Given the description of an element on the screen output the (x, y) to click on. 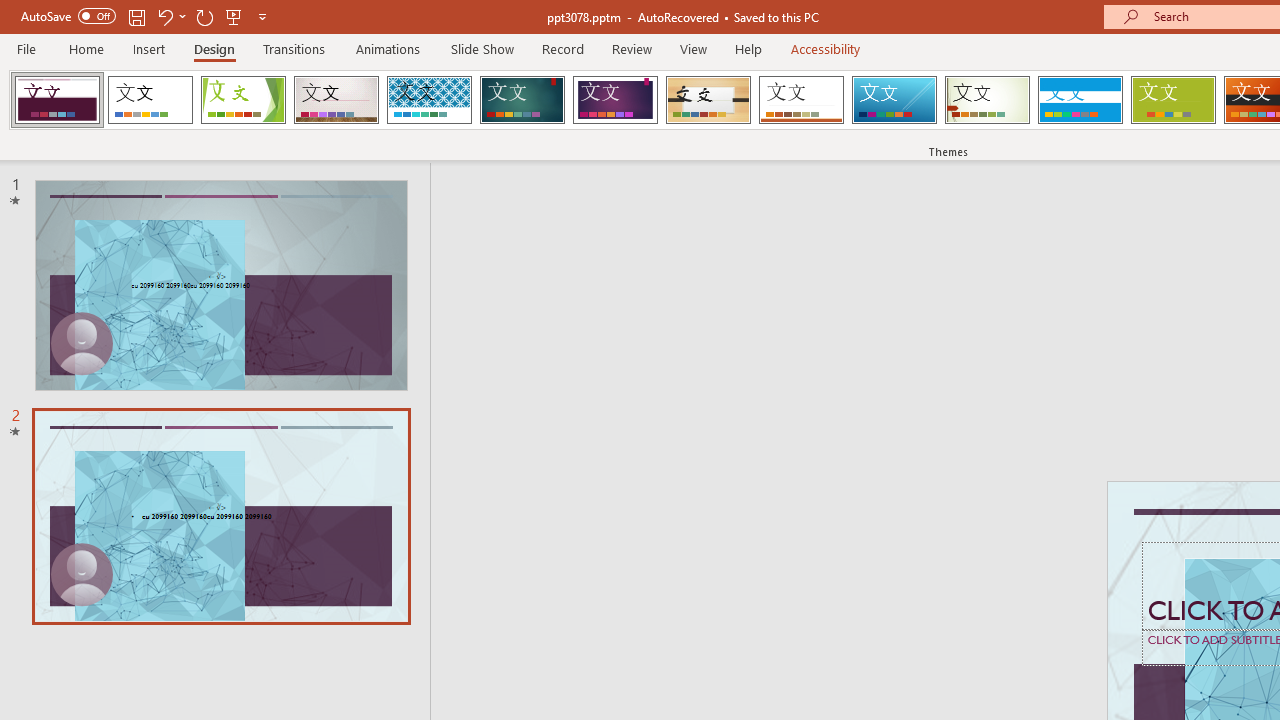
Dividend (57, 100)
Slice (893, 100)
Office Theme (150, 100)
Banded (1080, 100)
Ion Boardroom (615, 100)
